Given the description of an element on the screen output the (x, y) to click on. 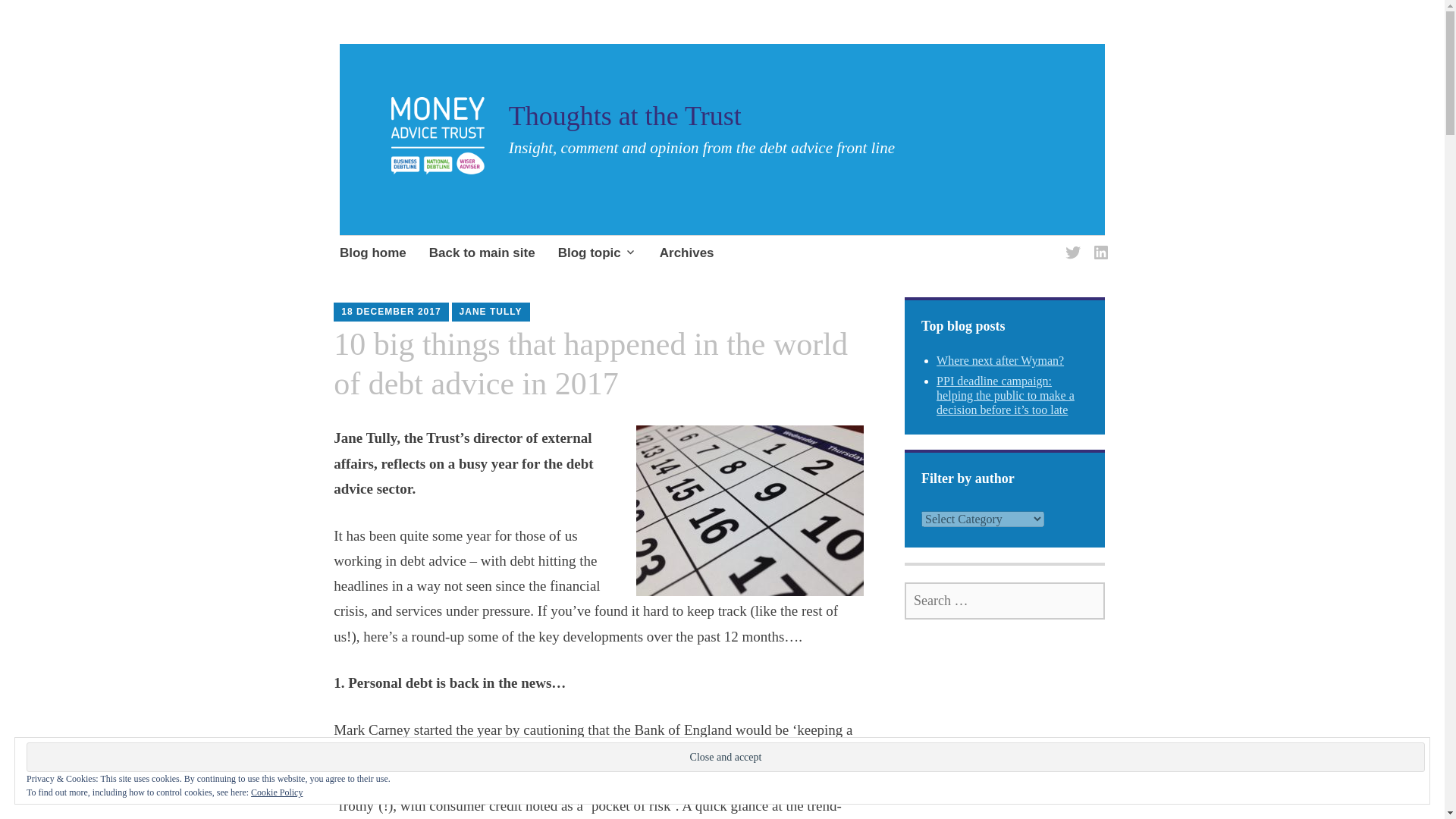
18 DECEMBER 2017 (390, 311)
Blog topic (597, 253)
Thoughts at the Trust (624, 115)
Blog home (372, 253)
Close and accept (725, 757)
JANE TULLY (491, 311)
Back to main site (482, 253)
Archives (686, 253)
